Given the description of an element on the screen output the (x, y) to click on. 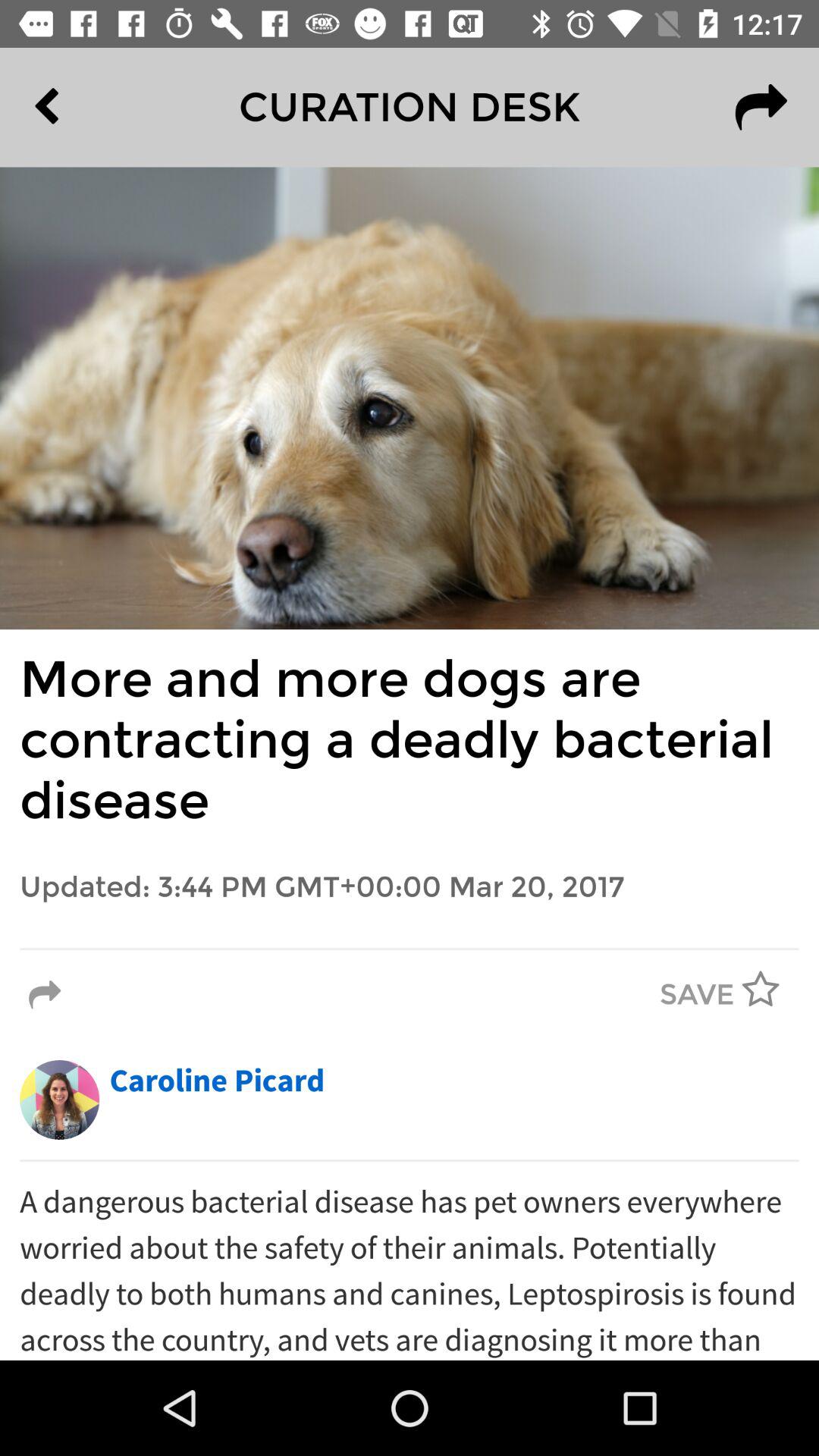
choose the item to the left of the curation desk (81, 107)
